Given the description of an element on the screen output the (x, y) to click on. 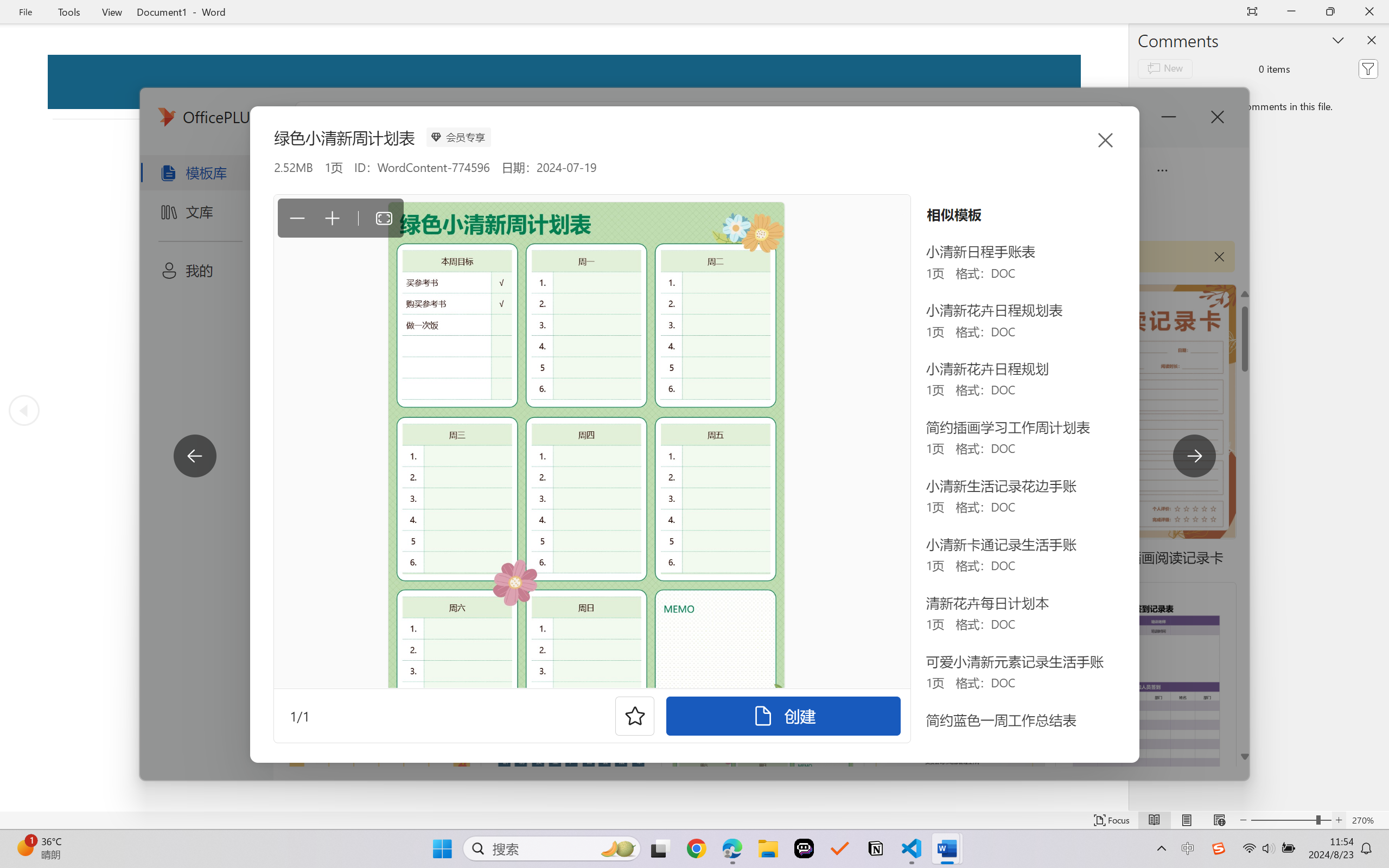
Tools (69, 11)
Text Size (1291, 819)
